Given the description of an element on the screen output the (x, y) to click on. 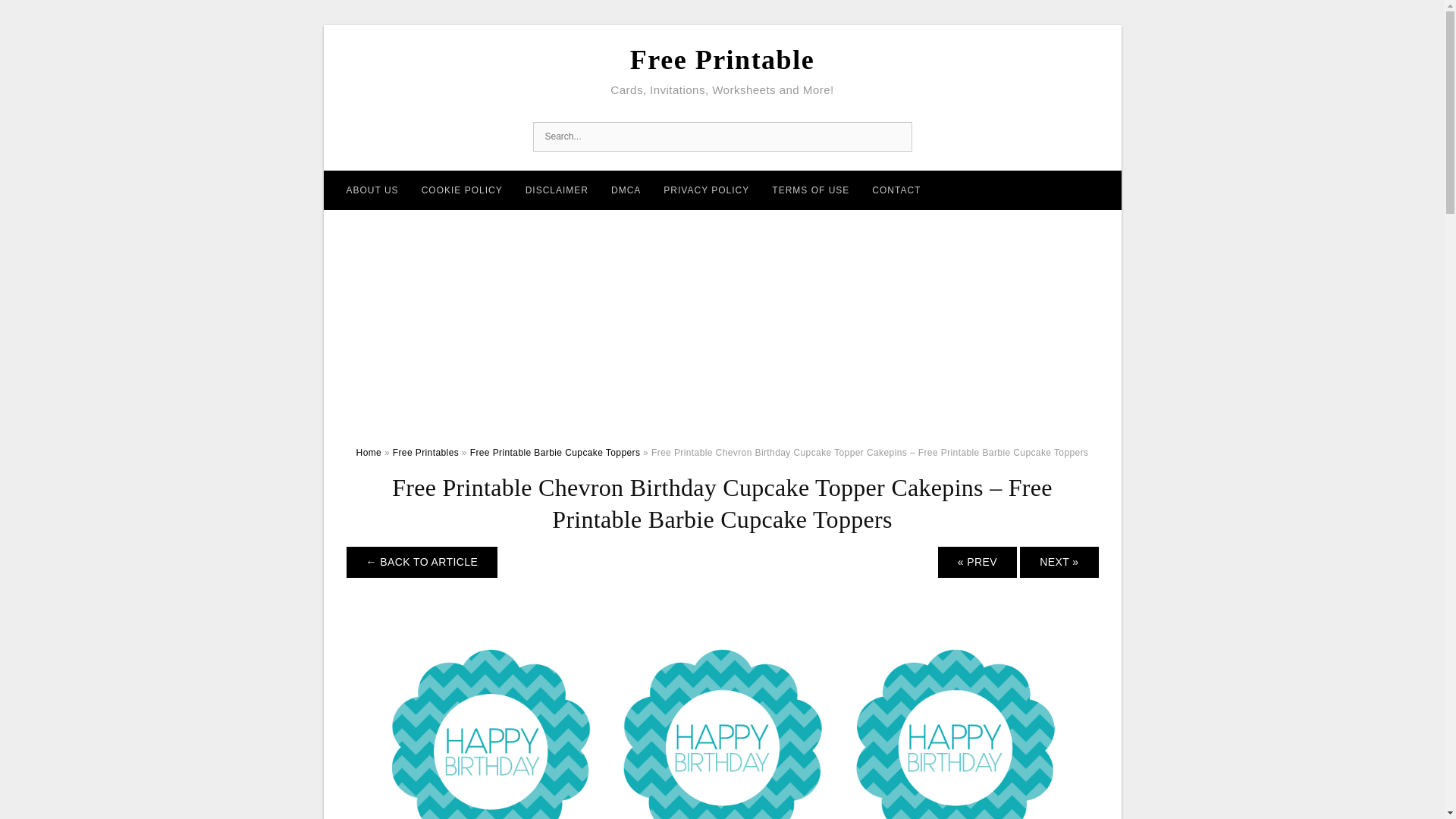
Search for: (721, 136)
Free Printable (721, 60)
Free Printable Barbie Cupcake Toppers (555, 452)
Return to Free Printable Barbie Cupcake Toppers (421, 562)
ABOUT US (372, 189)
DMCA (625, 189)
CONTACT (895, 189)
Home (368, 452)
Free Printables (425, 452)
DISCLAIMER (556, 189)
COOKIE POLICY (461, 189)
Search (895, 137)
Search (895, 137)
